Given the description of an element on the screen output the (x, y) to click on. 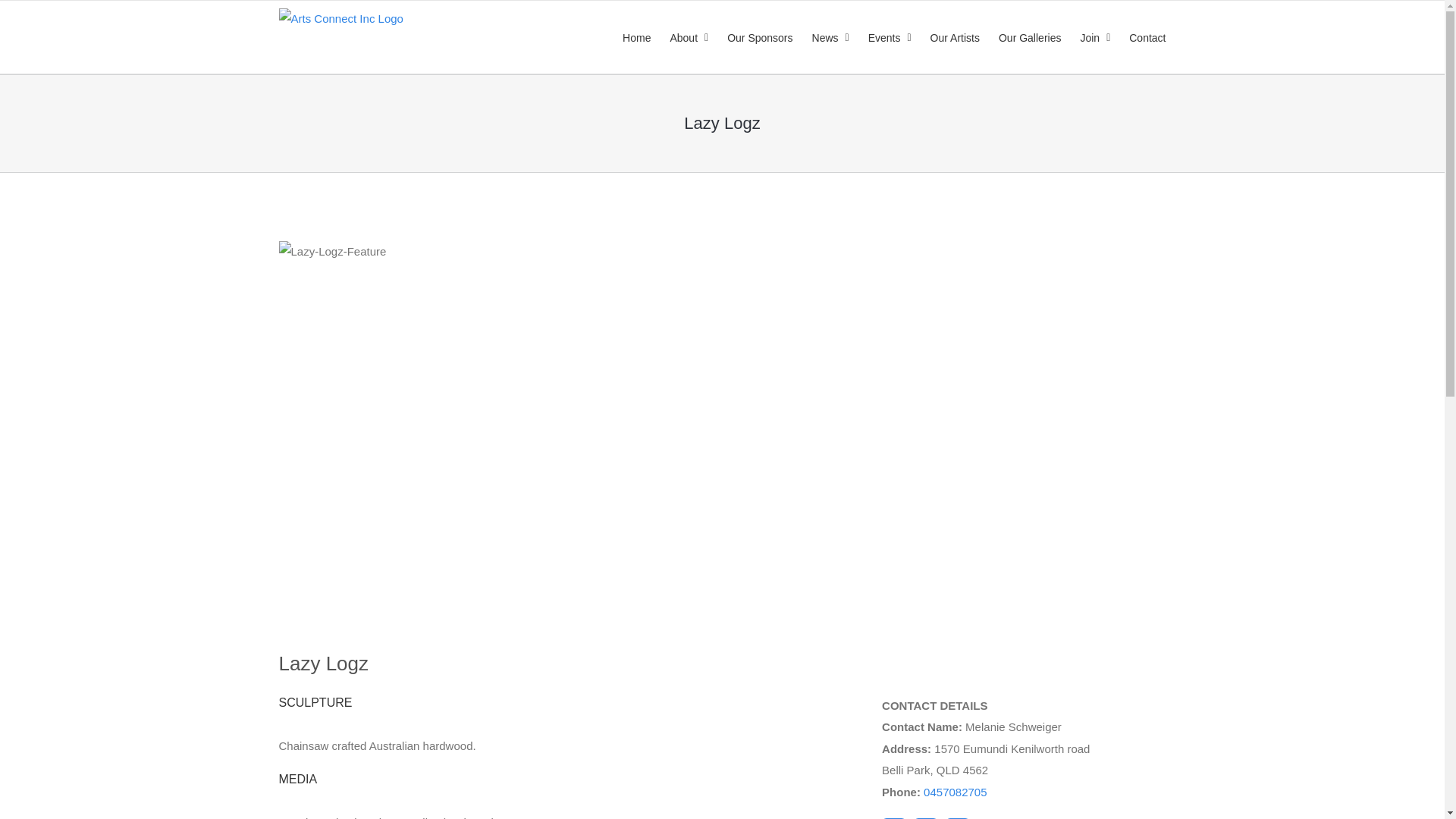
Our Sponsors (759, 36)
0457082705 (955, 791)
